Given the description of an element on the screen output the (x, y) to click on. 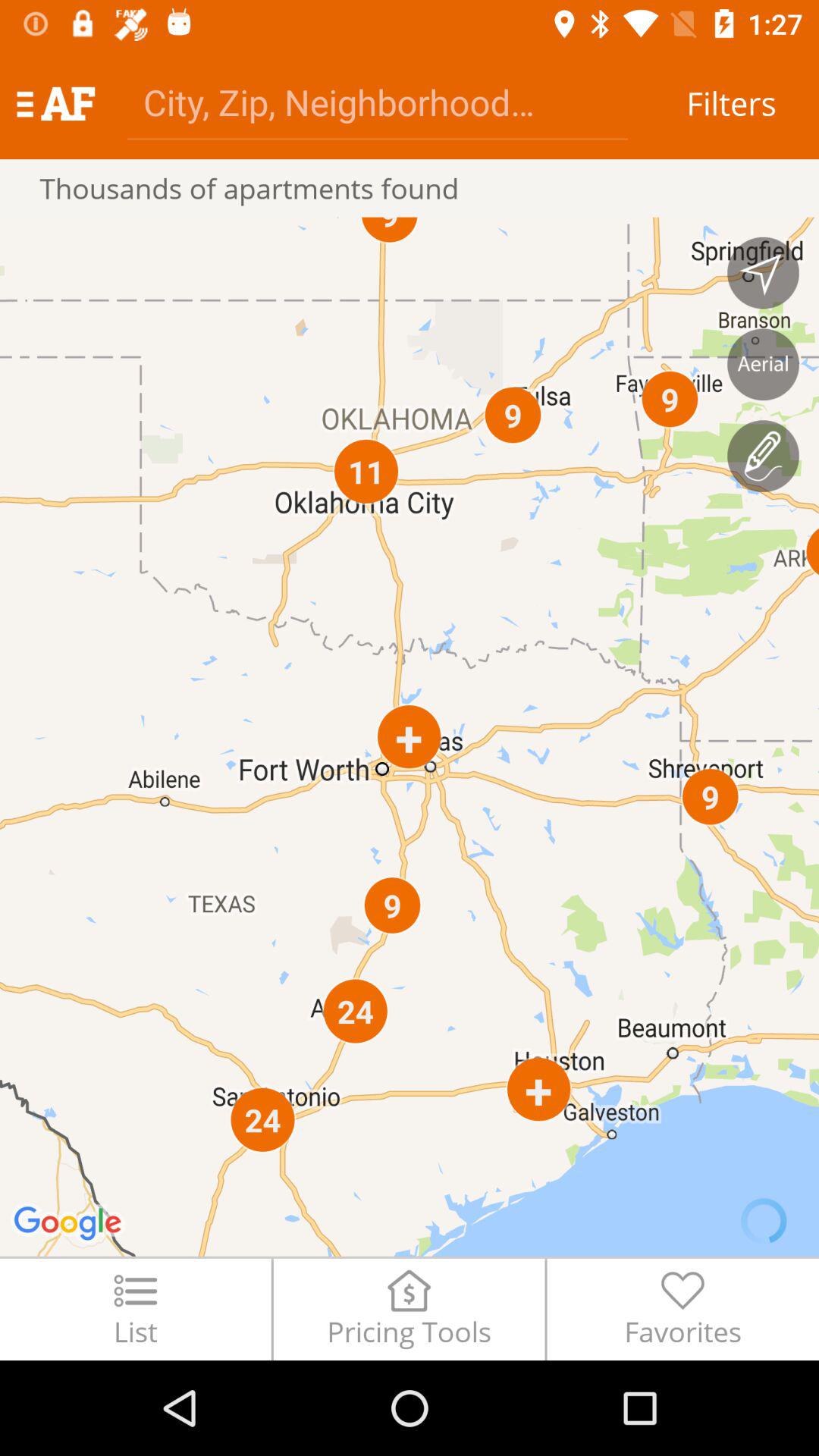
goes to user location (763, 272)
